Given the description of an element on the screen output the (x, y) to click on. 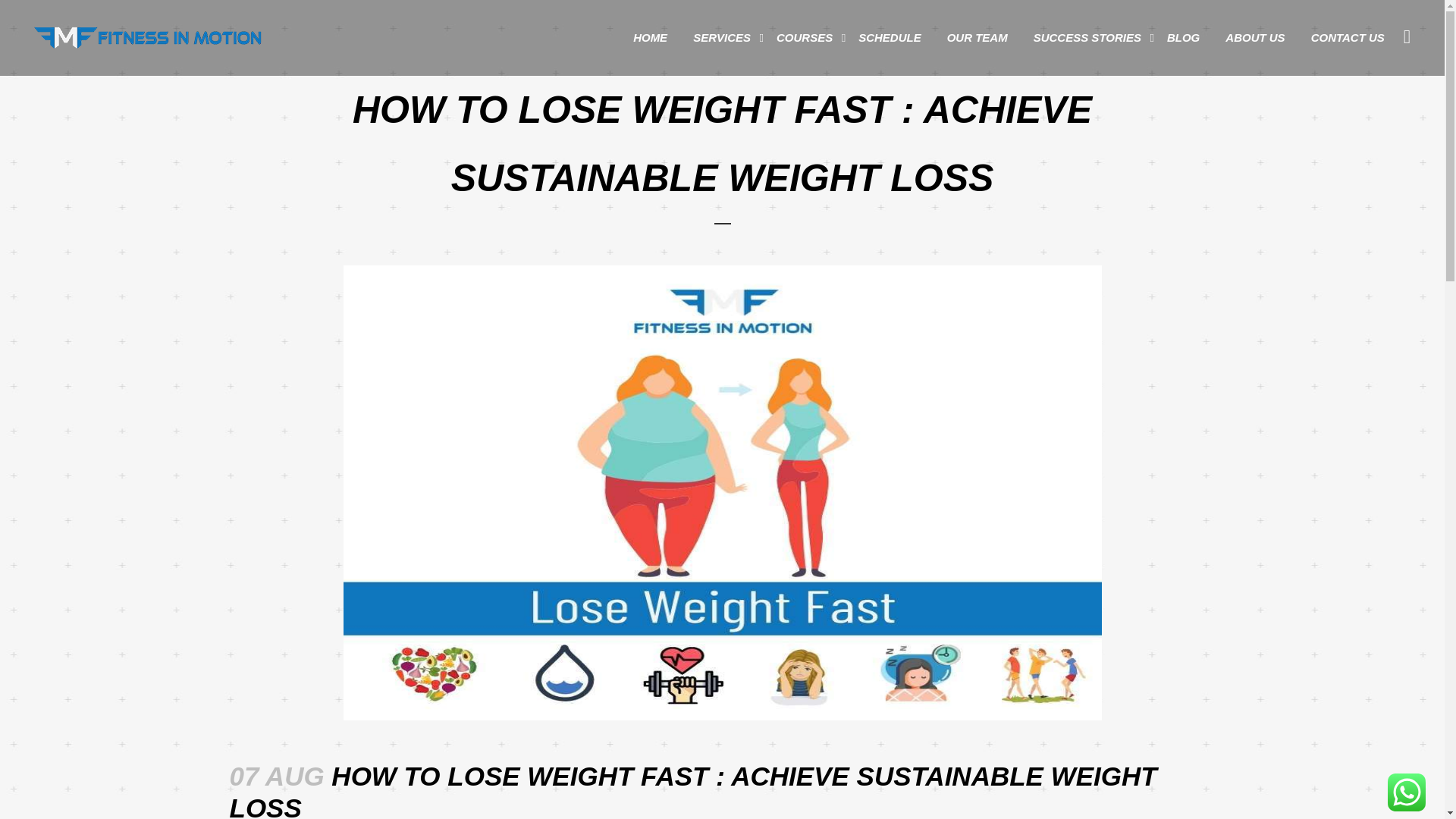
CONTACT US (1347, 38)
HOME (649, 38)
WhatsApp Us (1406, 792)
OUR TEAM (977, 38)
SERVICES (720, 38)
COURSES (803, 38)
SCHEDULE (889, 38)
SUCCESS STORIES (1087, 38)
BLOG (1183, 38)
ABOUT US (1254, 38)
